Given the description of an element on the screen output the (x, y) to click on. 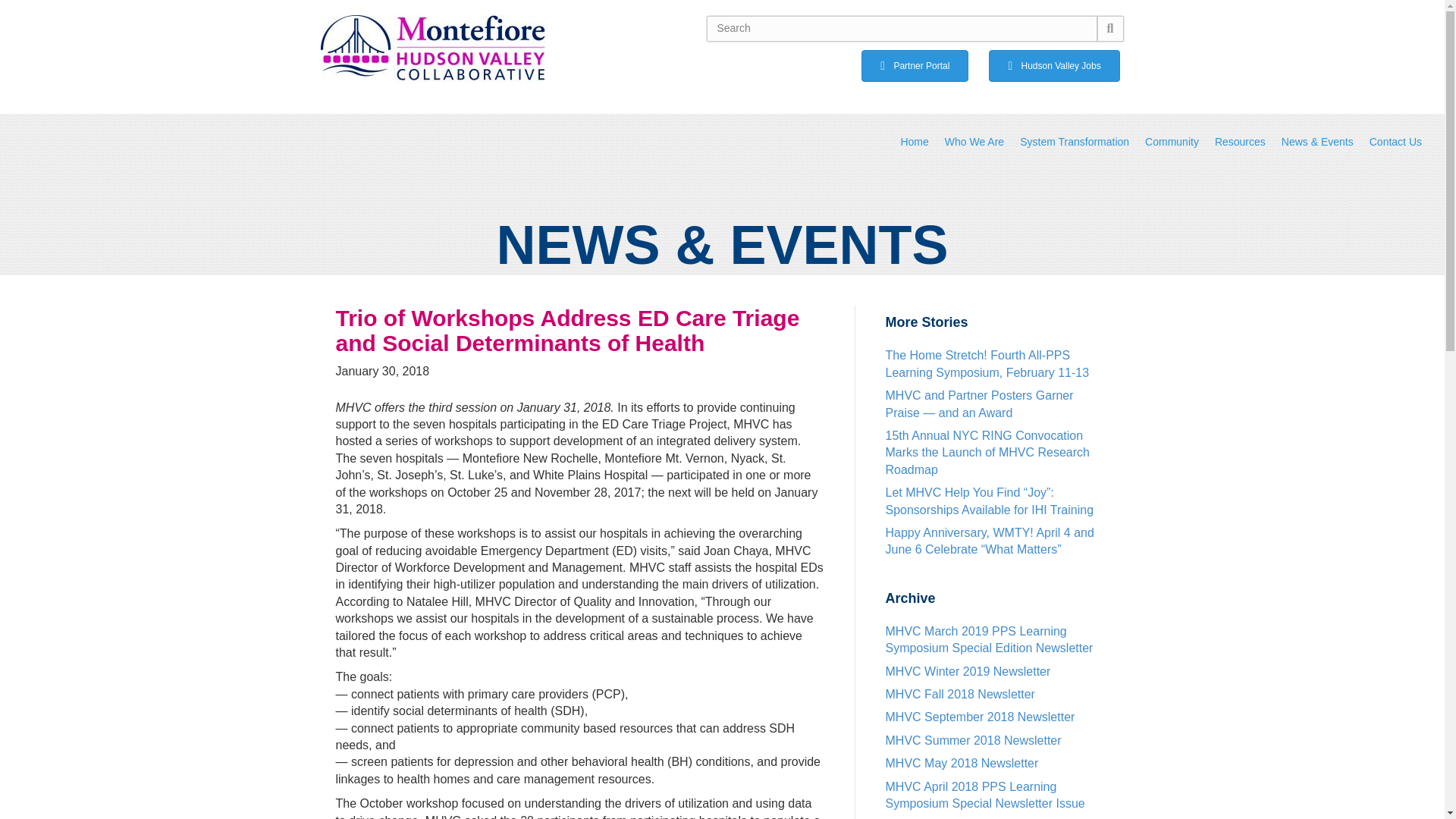
Hudson Valley Jobs (1053, 65)
Partner Portal (914, 65)
Community (1172, 141)
Type and press Enter to search. (915, 28)
Search (901, 28)
System Transformation (1074, 141)
Who We Are (974, 141)
Home (914, 141)
Resources (1239, 141)
Submit (1110, 28)
Search (901, 28)
montefiore (433, 49)
